Given the description of an element on the screen output the (x, y) to click on. 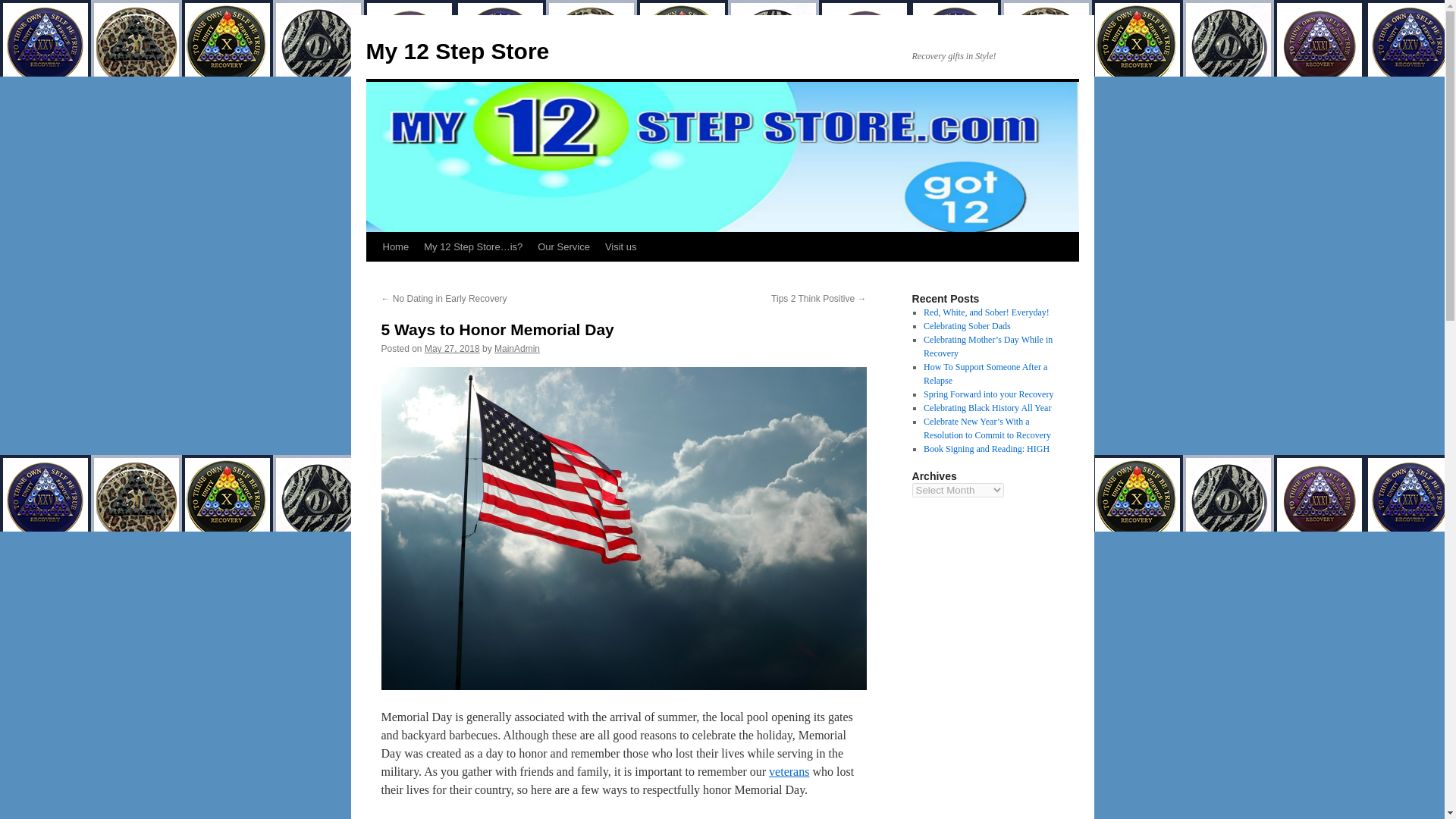
Celebrating Sober Dads (966, 326)
View all posts by MainAdmin (517, 348)
My 12 Step Store (456, 50)
9:00 am (452, 348)
How To Support Someone After a Relapse (984, 373)
Home (395, 246)
veterans (788, 771)
Celebrating Black History All Year (987, 407)
Visit us (620, 246)
Our Service (562, 246)
Spring Forward into your Recovery (987, 394)
MainAdmin (517, 348)
May 27, 2018 (452, 348)
Red, White, and Sober! Everyday! (986, 312)
My 12 Step Store (456, 50)
